Given the description of an element on the screen output the (x, y) to click on. 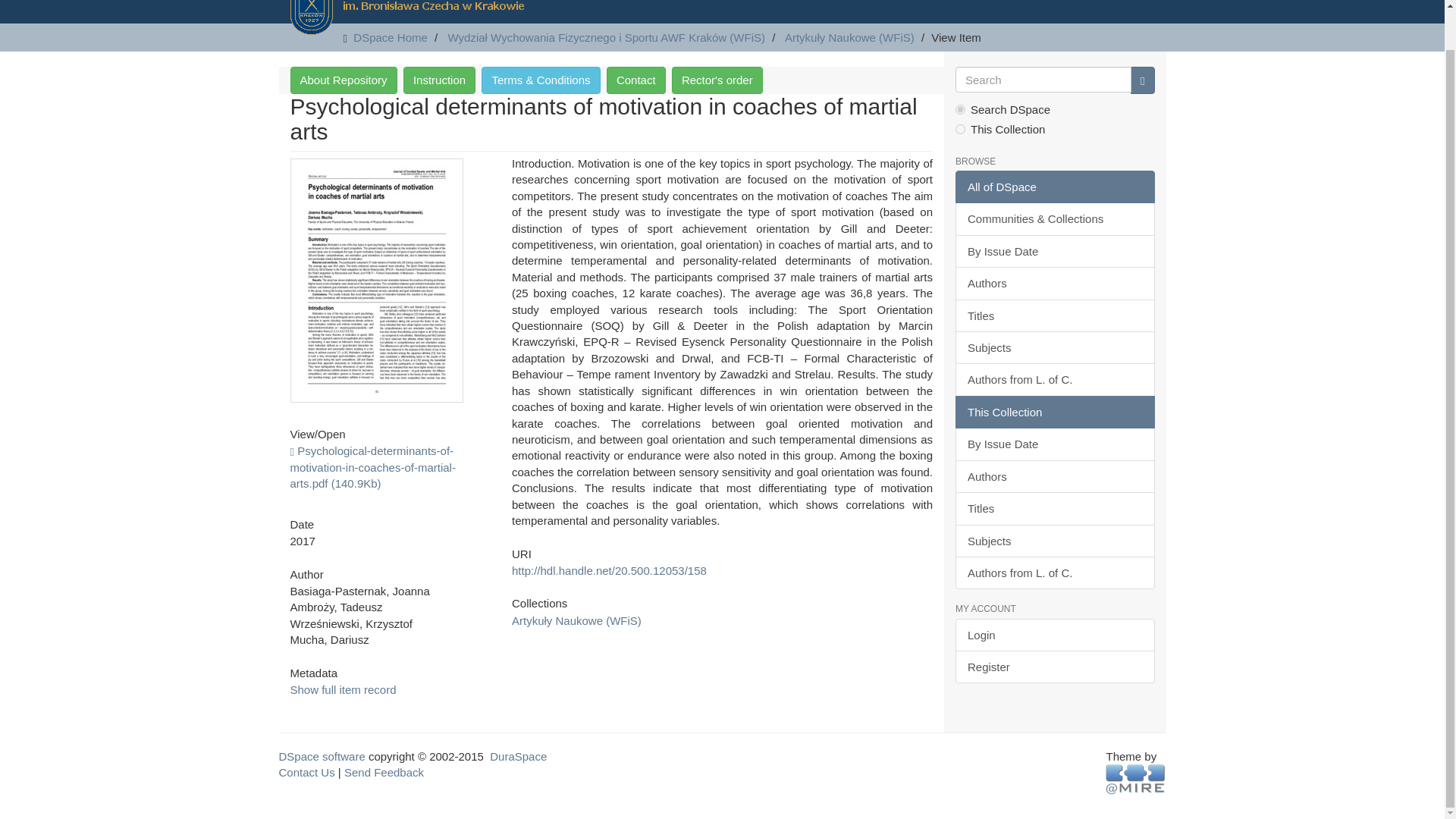
All of DSpace (1054, 186)
Instruction (439, 79)
regulamin (540, 79)
DSpace Home (390, 37)
Contact (636, 79)
instrukcja deponowania (439, 79)
o repozytorium (342, 79)
About Repository (342, 79)
kontakt (636, 79)
Rector's order (716, 79)
Show full item record (342, 689)
By Issue Date (1054, 251)
